Given the description of an element on the screen output the (x, y) to click on. 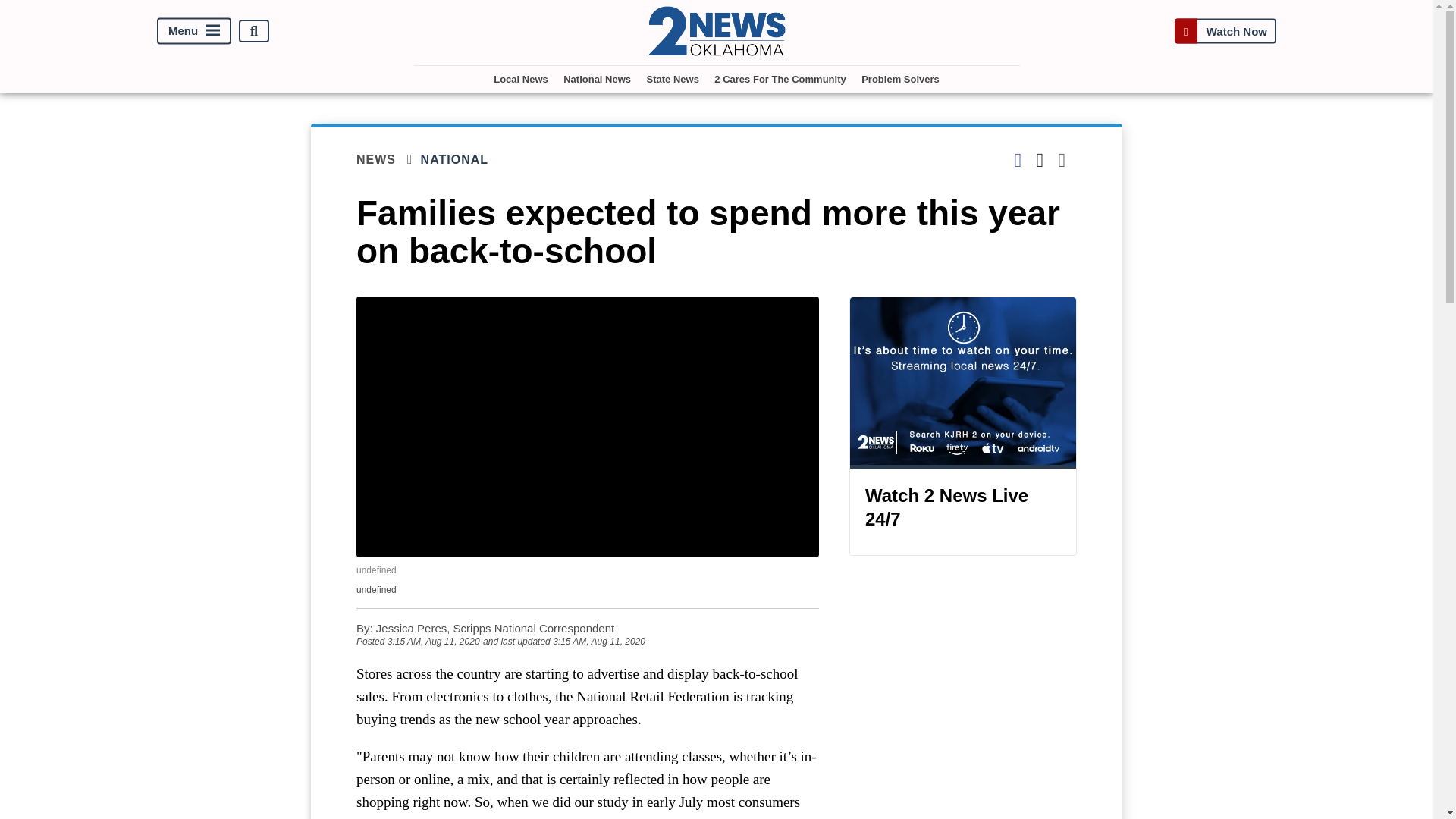
Menu (194, 31)
Watch Now (1224, 31)
